Given the description of an element on the screen output the (x, y) to click on. 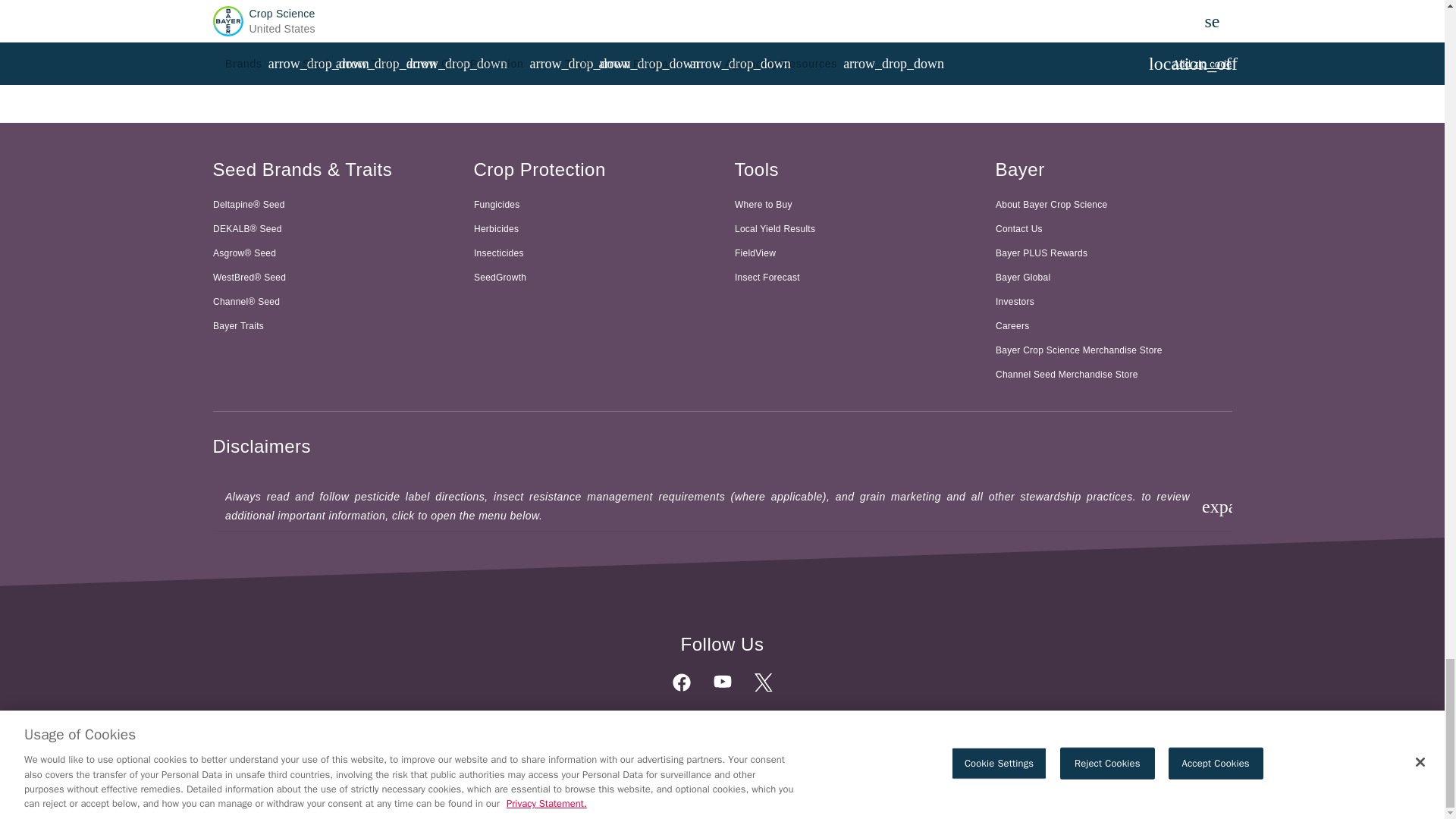
Contact Us (1112, 228)
Herbicides (591, 228)
Insect Forecast (852, 277)
Bayer Traits (330, 325)
Bayer Global (1112, 277)
FieldView (852, 252)
Bayer Crop Science Merchandise Store (1112, 350)
Fungicides (591, 204)
SeedGrowth (591, 277)
Channel Seed Merchandise Store (1112, 374)
